Given the description of an element on the screen output the (x, y) to click on. 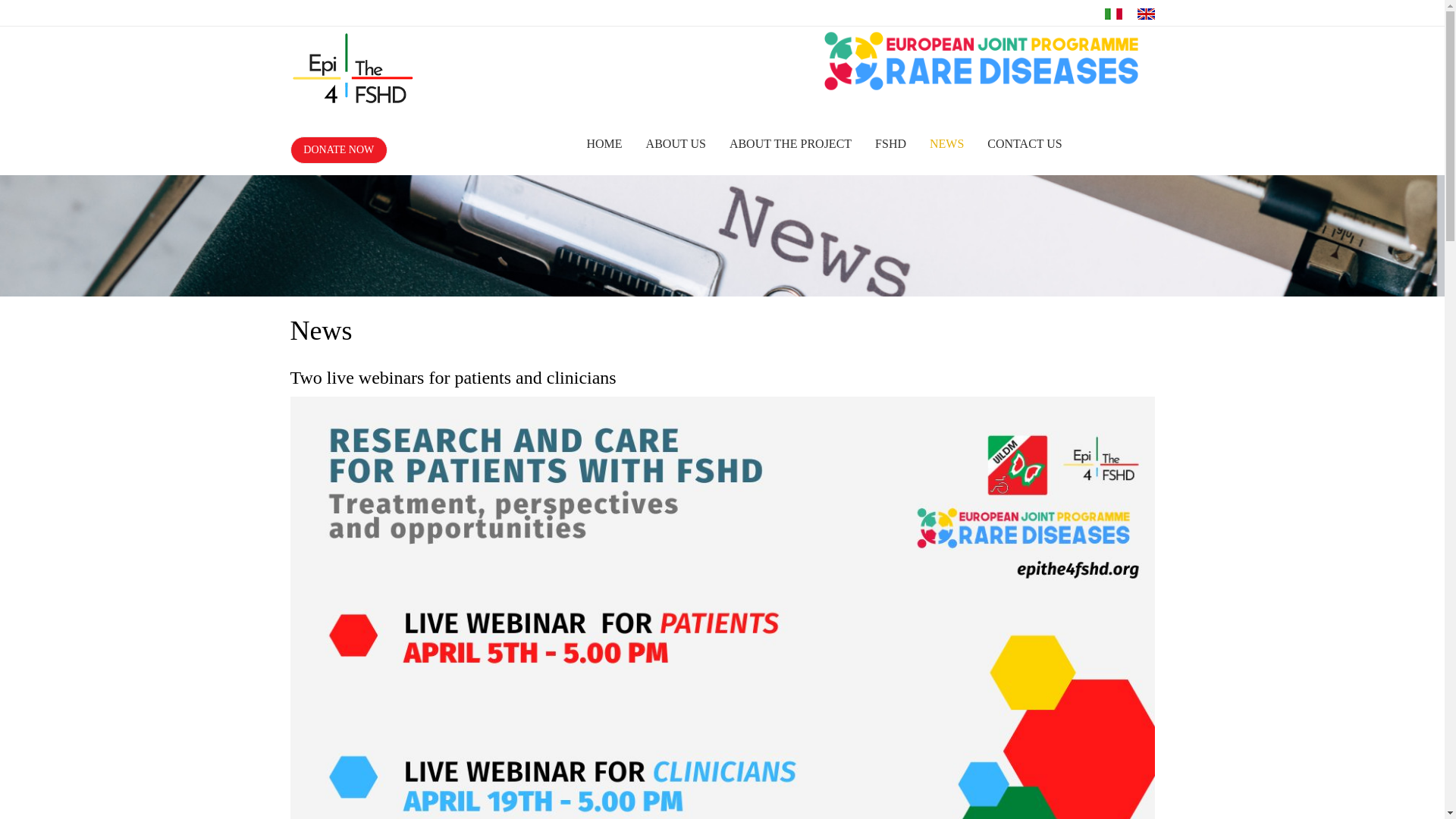
CONTACT US (1024, 143)
epithe4fshd.org (351, 67)
ABOUT THE PROJECT (790, 143)
DONATE NOW (338, 149)
ABOUT US (675, 143)
HOME (604, 143)
epithe4fshd.org (981, 61)
NEWS (946, 143)
FSHD (890, 143)
